Given the description of an element on the screen output the (x, y) to click on. 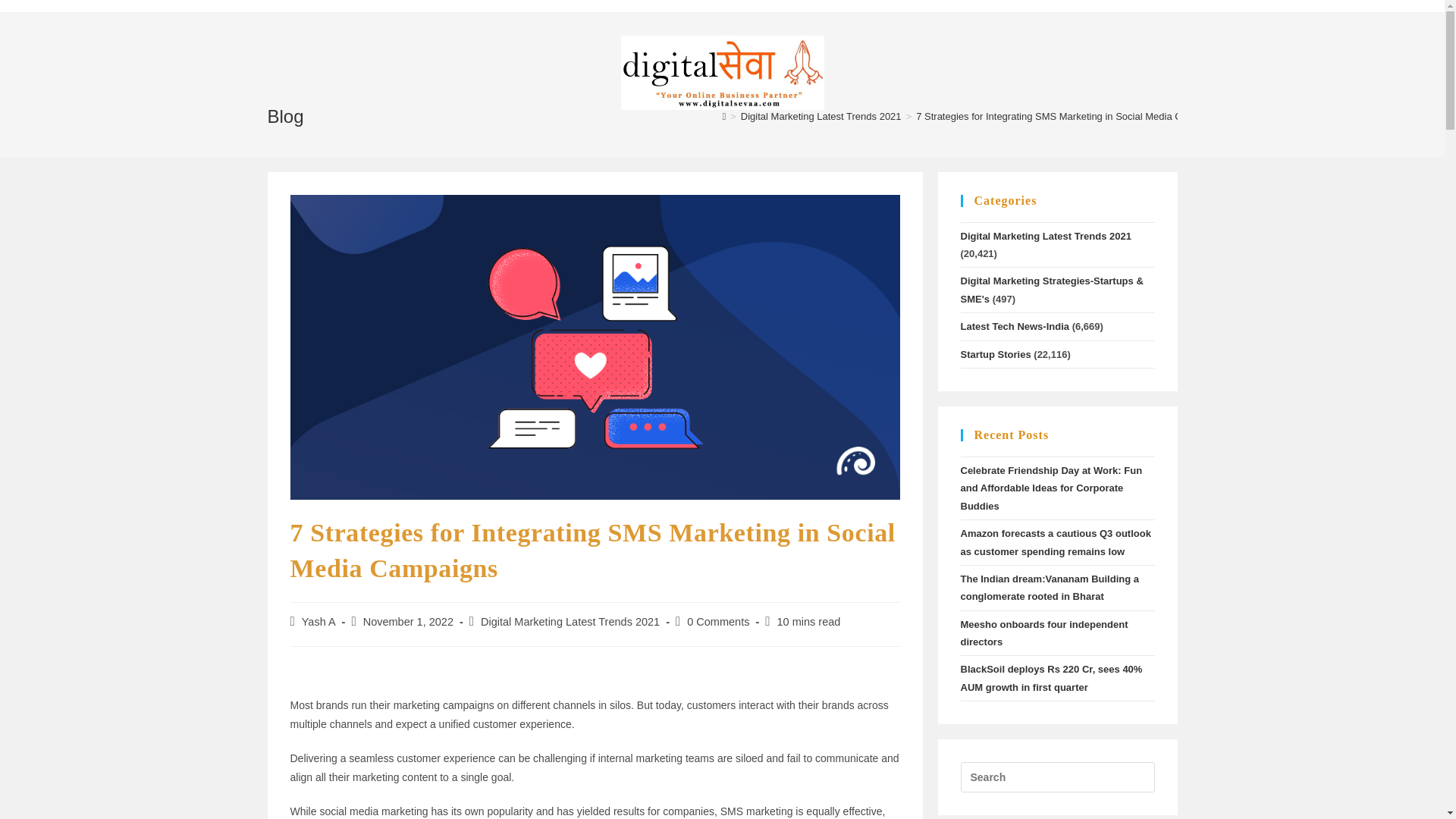
0 Comments (718, 621)
Posts by Yash A (318, 621)
Yash A (318, 621)
Digital Marketing Latest Trends 2021 (569, 621)
Digital Marketing Latest Trends 2021 (821, 116)
